Given the description of an element on the screen output the (x, y) to click on. 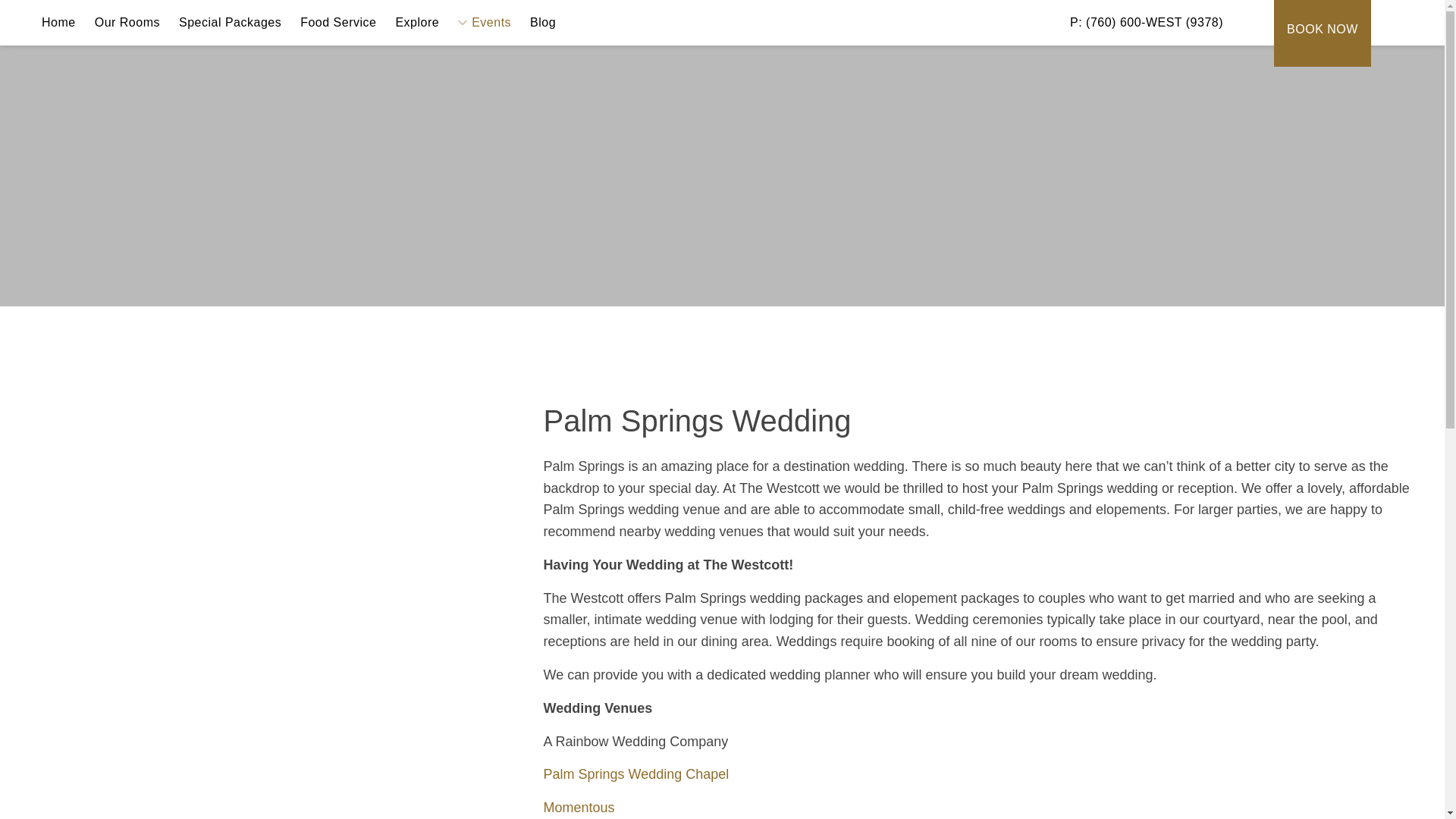
Events (484, 23)
Home (58, 23)
Food Service (338, 23)
Special Packages (229, 23)
Our Rooms (126, 23)
Blog (542, 23)
Explore (416, 23)
